Given the description of an element on the screen output the (x, y) to click on. 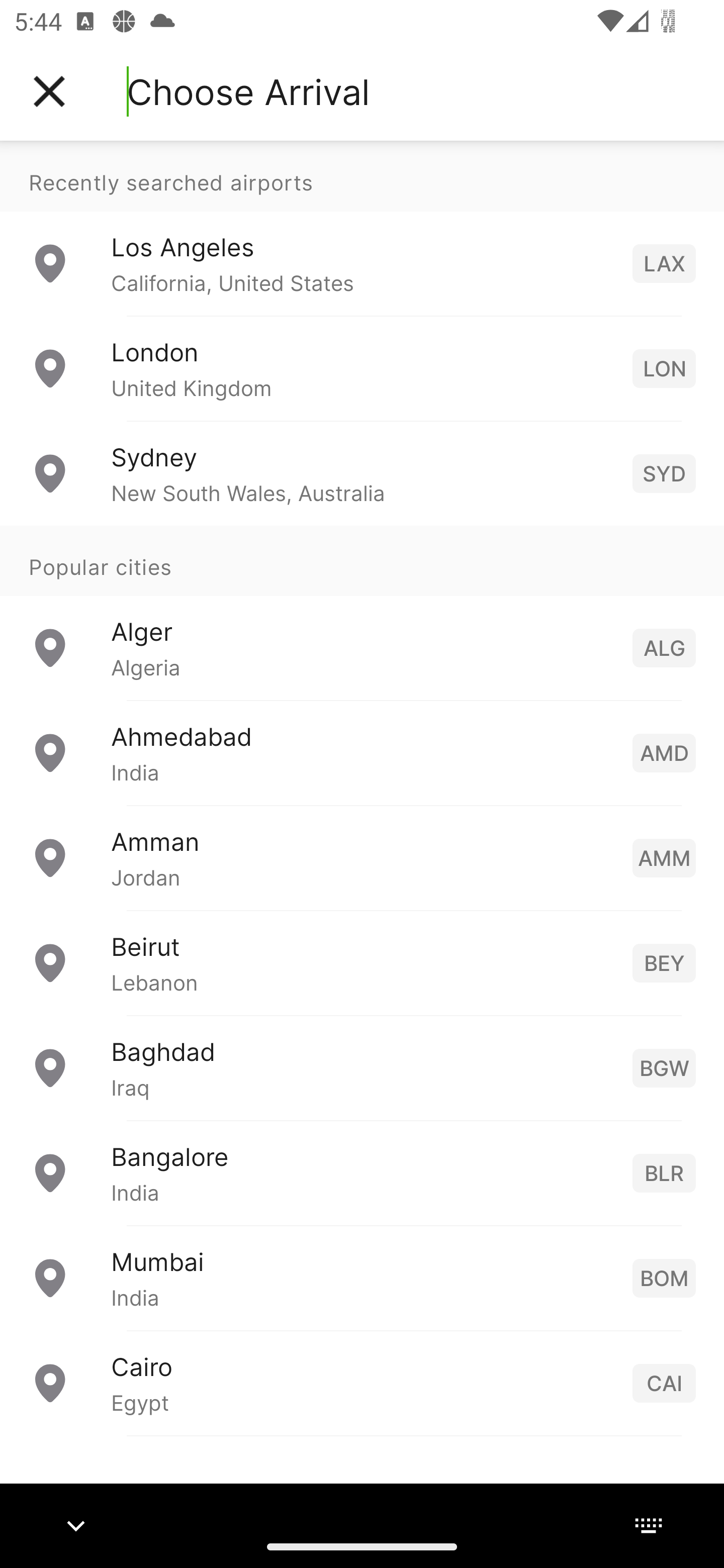
Choose Arrival (247, 91)
Recently searched airports (362, 176)
London United Kingdom LON (362, 367)
Sydney New South Wales, Australia SYD (362, 472)
Popular cities Alger Algeria ALG (362, 612)
Popular cities (362, 560)
Ahmedabad India AMD (362, 751)
Amman Jordan AMM (362, 856)
Beirut Lebanon BEY (362, 961)
Baghdad Iraq BGW (362, 1066)
Bangalore India BLR (362, 1171)
Mumbai India BOM (362, 1276)
Cairo Egypt CAI (362, 1381)
